Given the description of an element on the screen output the (x, y) to click on. 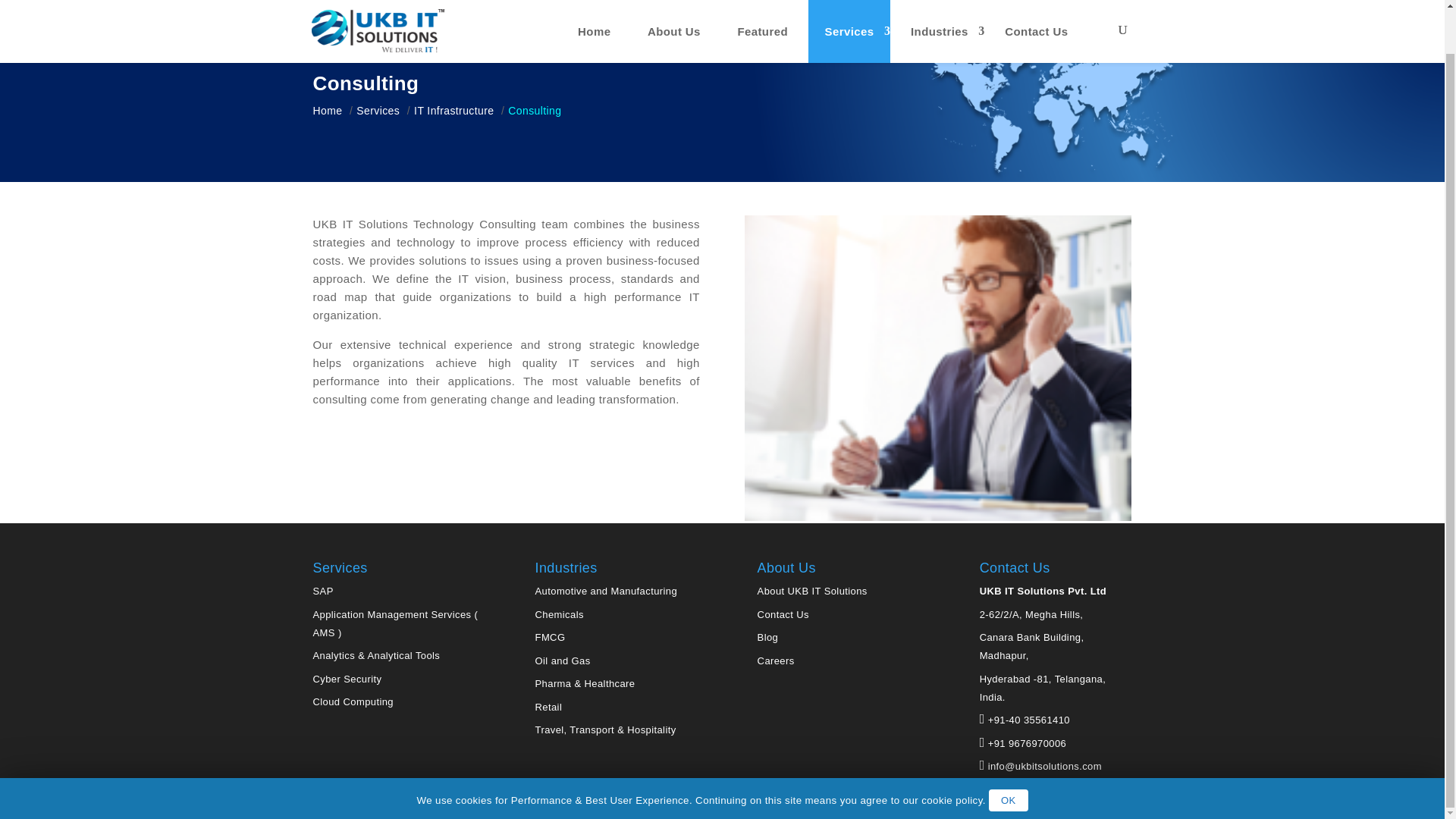
Featured (762, 8)
About Us (673, 8)
Home (593, 8)
Services (849, 8)
